Given the description of an element on the screen output the (x, y) to click on. 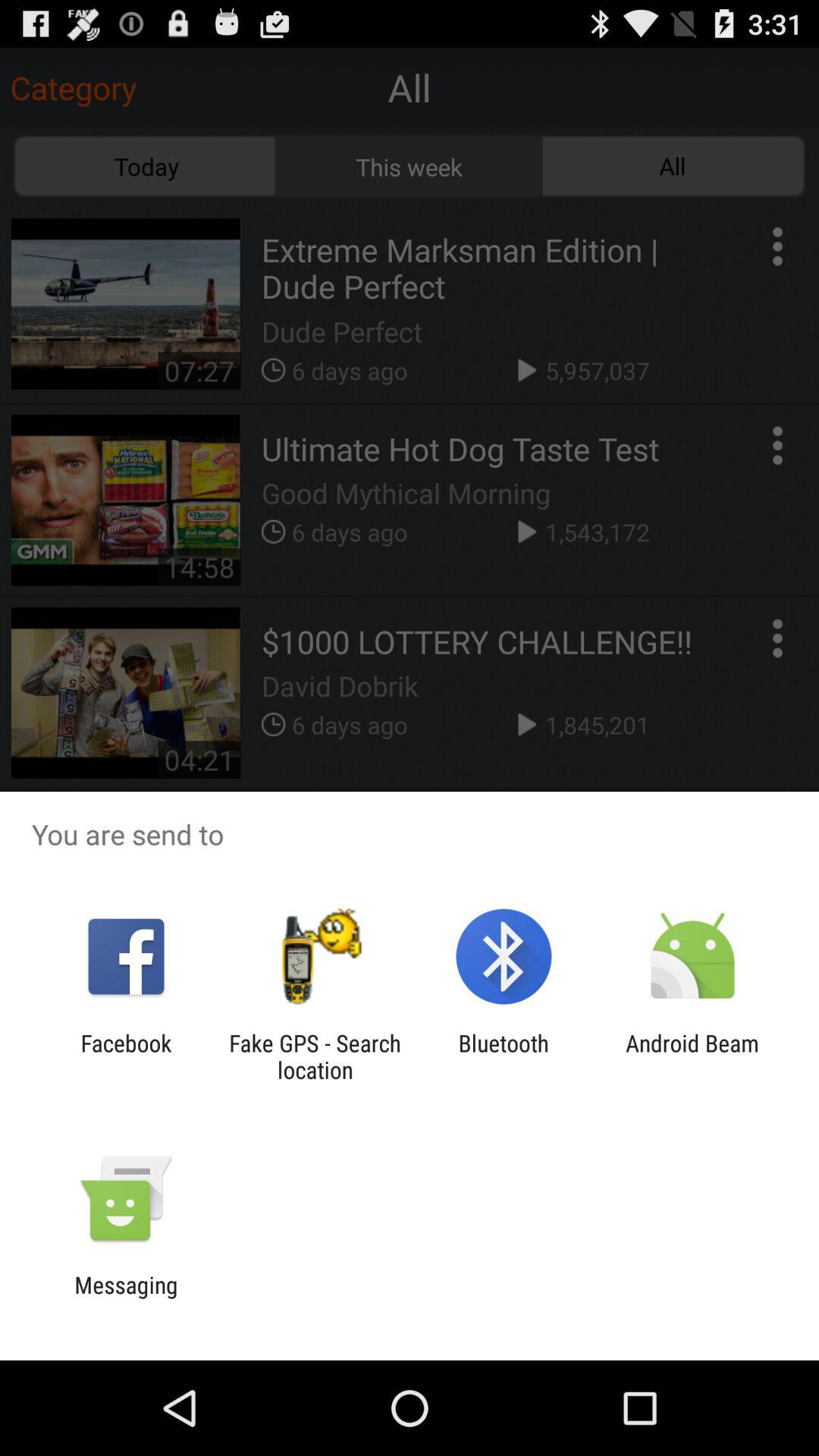
choose the icon next to fake gps search item (503, 1056)
